Given the description of an element on the screen output the (x, y) to click on. 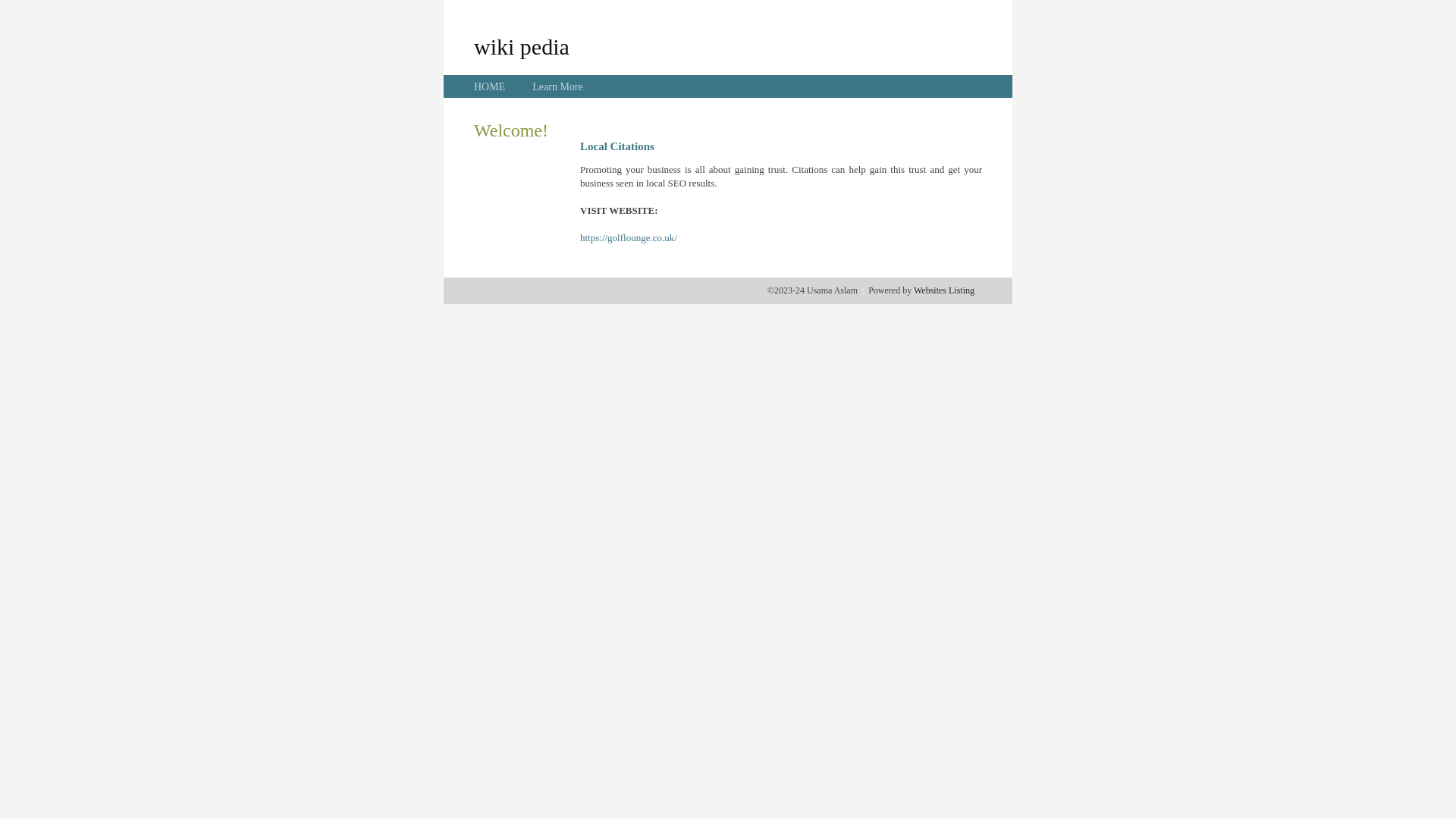
Websites Listing Element type: text (943, 290)
https://golflounge.co.uk/ Element type: text (628, 237)
wiki pedia Element type: text (521, 46)
Learn More Element type: text (557, 86)
HOME Element type: text (489, 86)
